Given the description of an element on the screen output the (x, y) to click on. 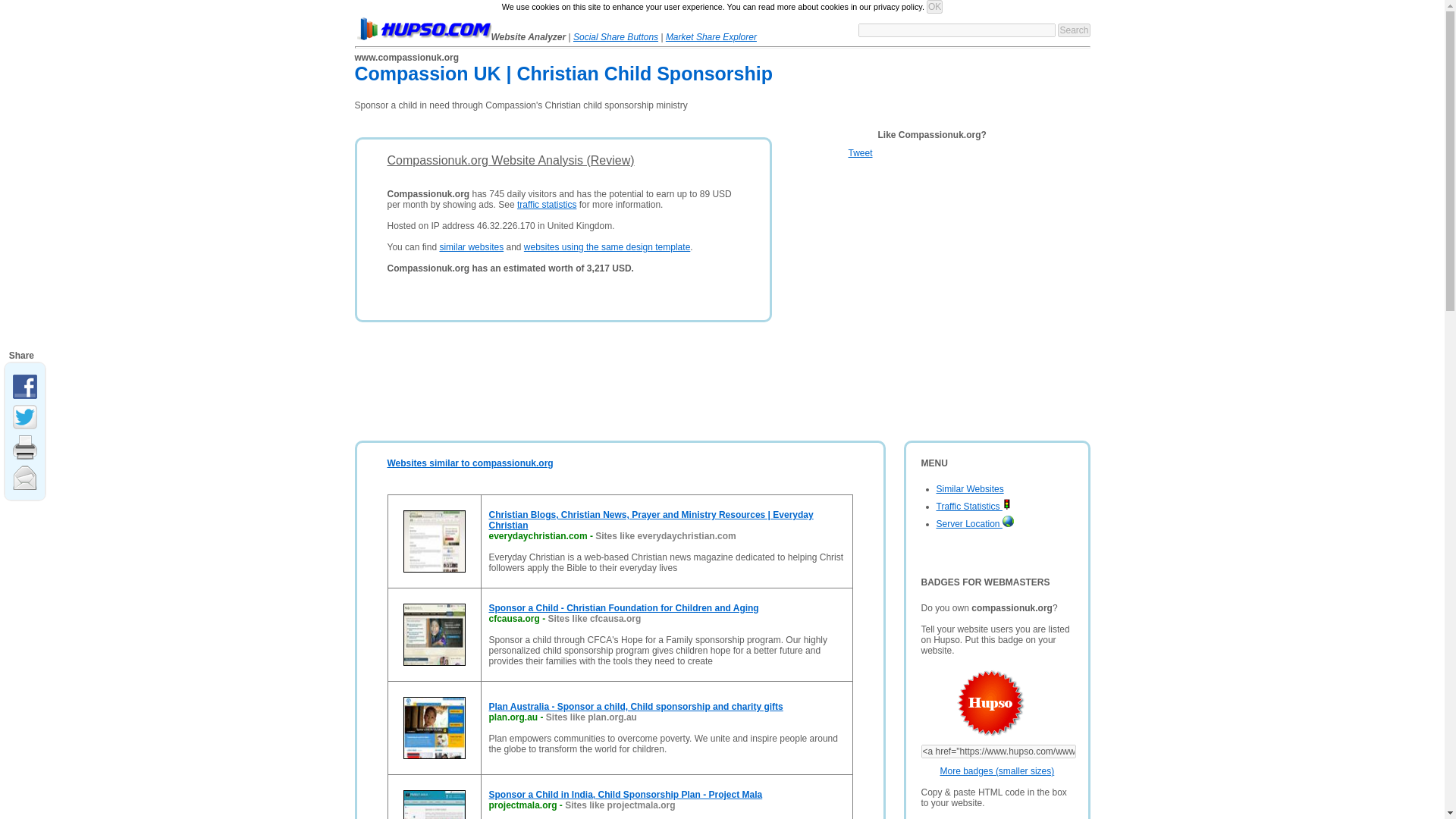
Email (26, 475)
Search (1073, 29)
Market Share Explorer (711, 36)
similar websites (471, 246)
Similar Websites (969, 489)
Compassionuk.org is listed on Hupso (973, 704)
websites using the same design template (607, 246)
Sites like cfcausa.org (595, 618)
Print (26, 445)
Social Share Buttons (615, 36)
Server Location (974, 523)
OK (934, 6)
Sites like projectmala.org (619, 805)
